Given the description of an element on the screen output the (x, y) to click on. 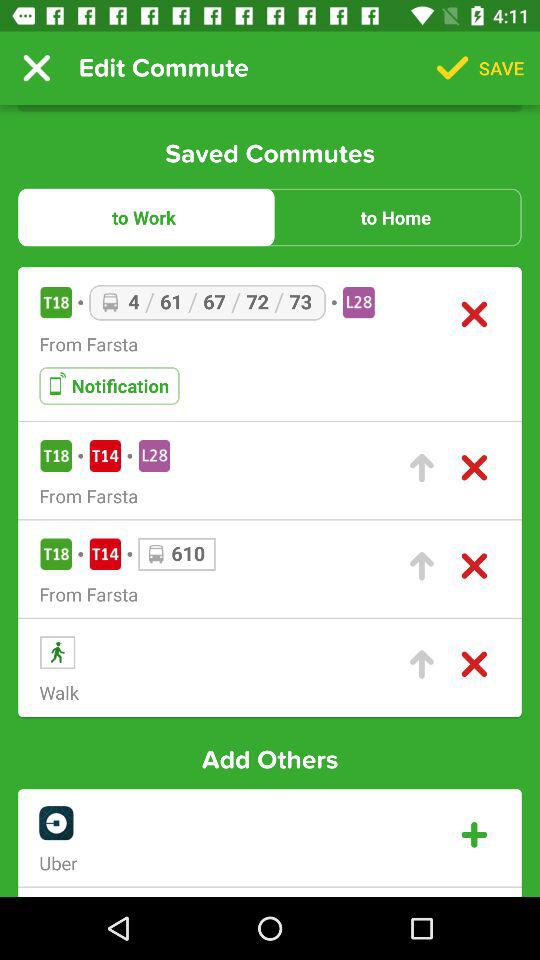
select the item to the right of the to work item (395, 217)
